Given the description of an element on the screen output the (x, y) to click on. 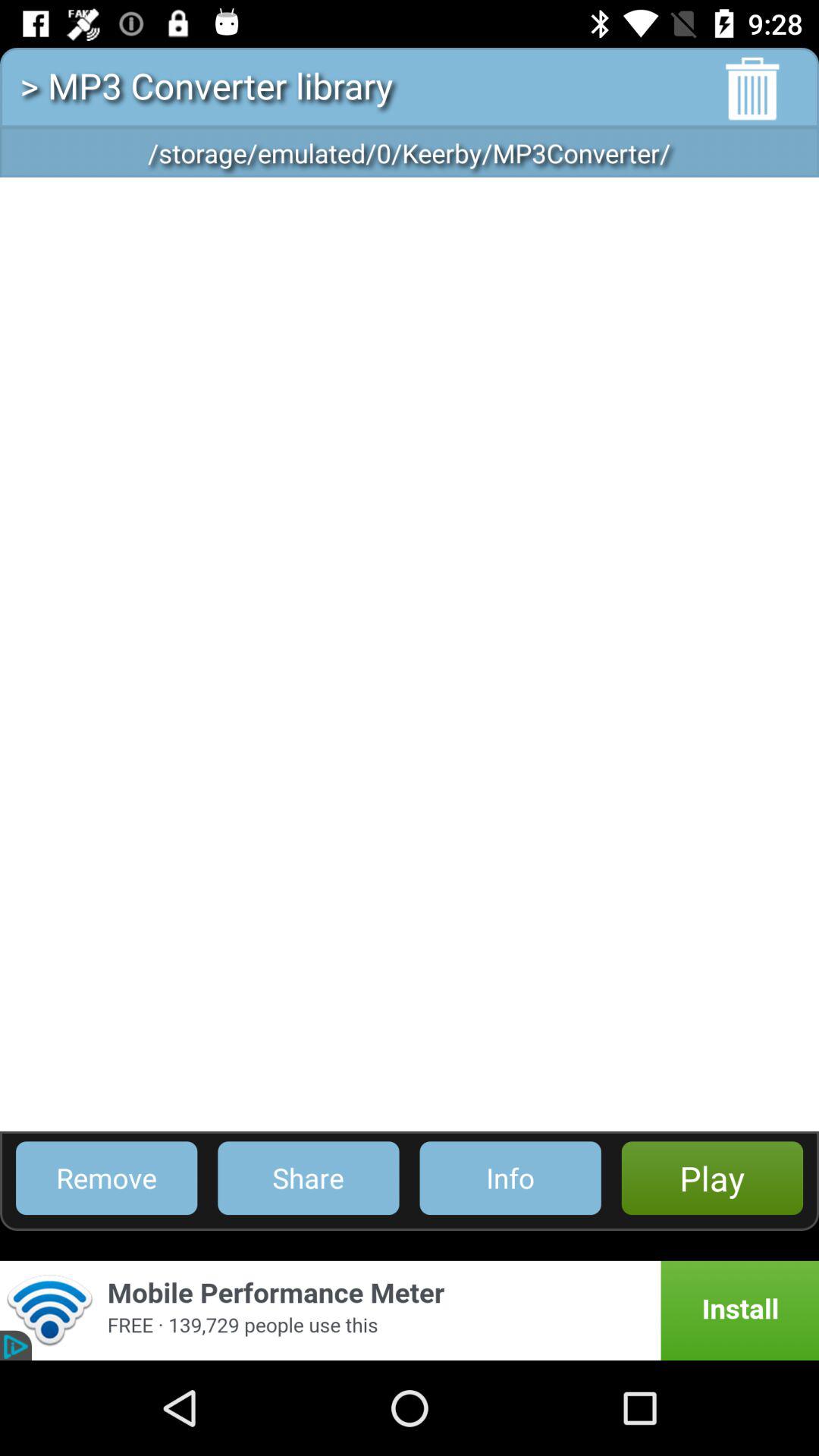
launch the icon above remove item (409, 654)
